Given the description of an element on the screen output the (x, y) to click on. 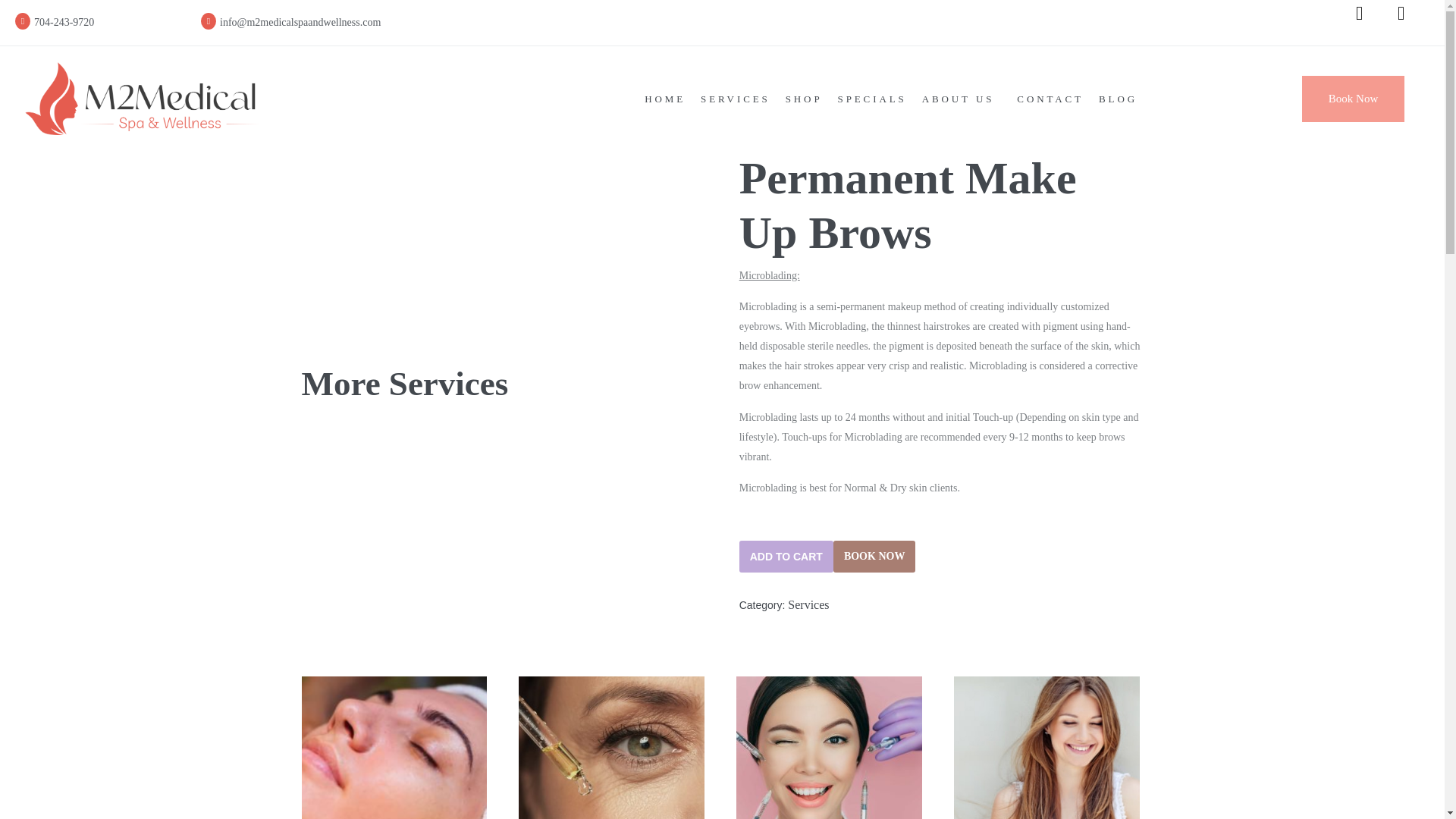
ADD TO CART (785, 556)
Customized Facial Peels (394, 747)
BLOG (1117, 98)
CONTACT (1049, 98)
Advanced Skin Care (611, 747)
Book Now (1353, 99)
ABOUT US (962, 98)
SERVICES (735, 98)
SHOP (803, 98)
704-243-9720 (153, 22)
Services (807, 604)
SPECIALS (871, 98)
BOOK NOW (873, 556)
HOME (665, 98)
